Given the description of an element on the screen output the (x, y) to click on. 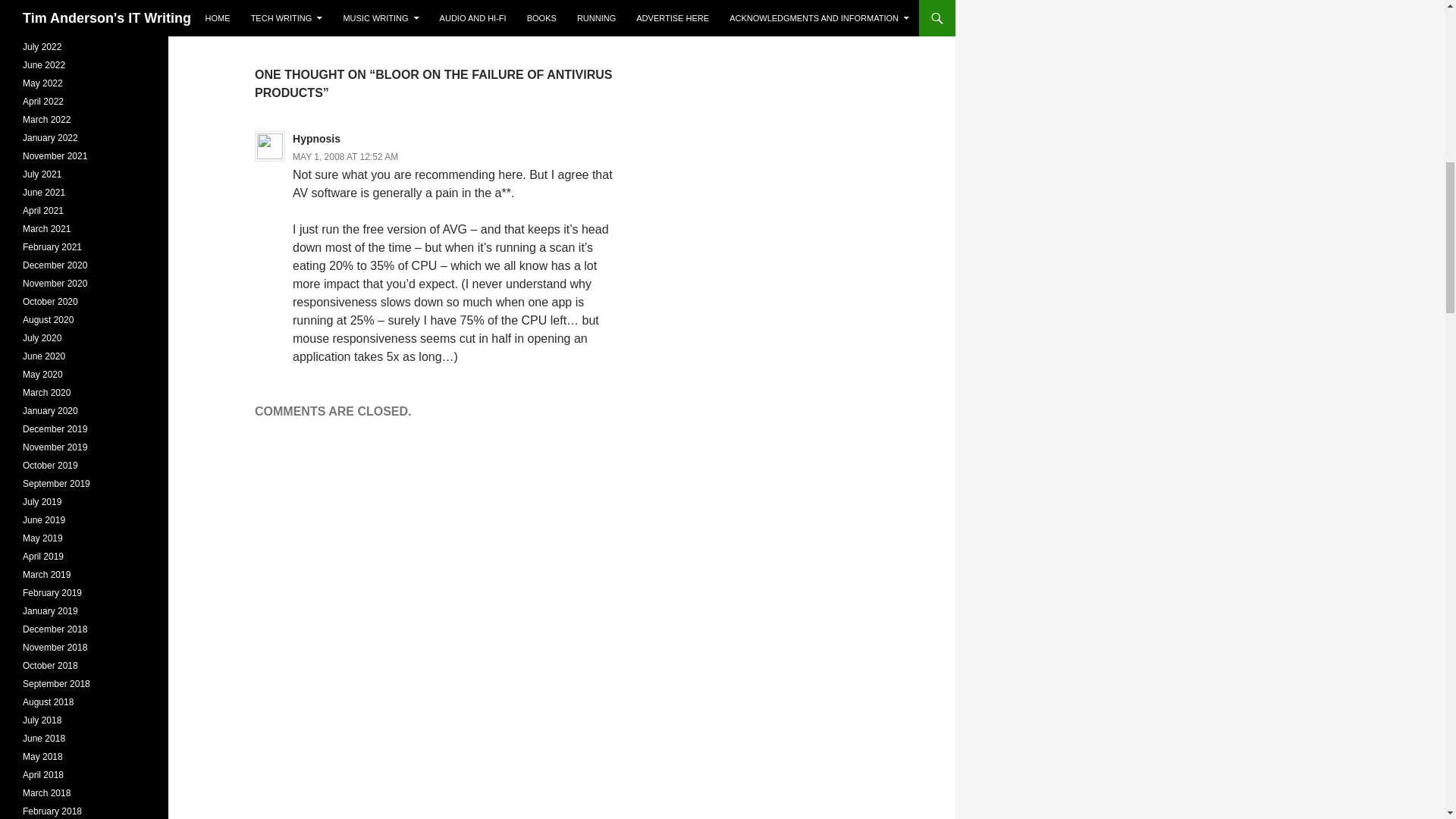
Hypnosis (316, 138)
MAY 1, 2008 AT 12:52 AM (344, 156)
